Given the description of an element on the screen output the (x, y) to click on. 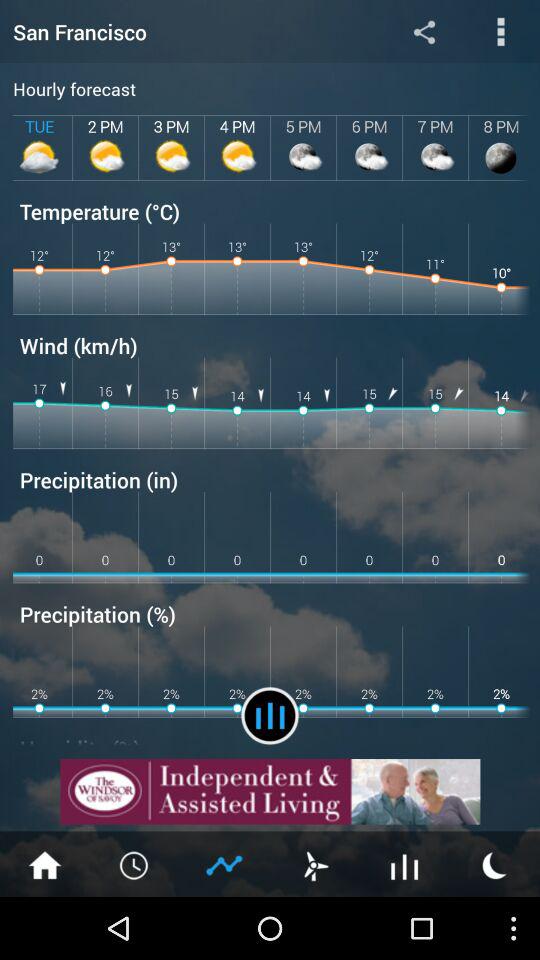
menu button (135, 864)
